Given the description of an element on the screen output the (x, y) to click on. 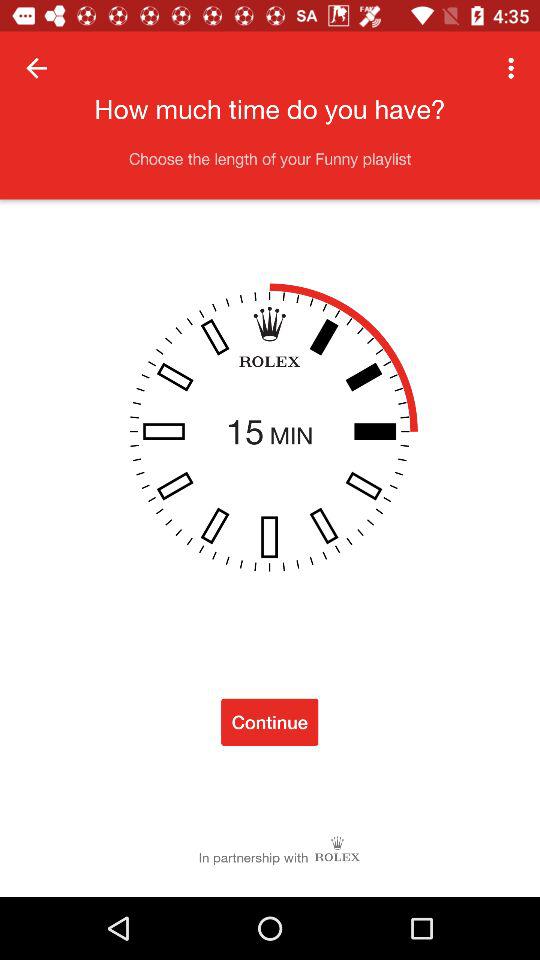
choose the item at the top right corner (513, 67)
